Given the description of an element on the screen output the (x, y) to click on. 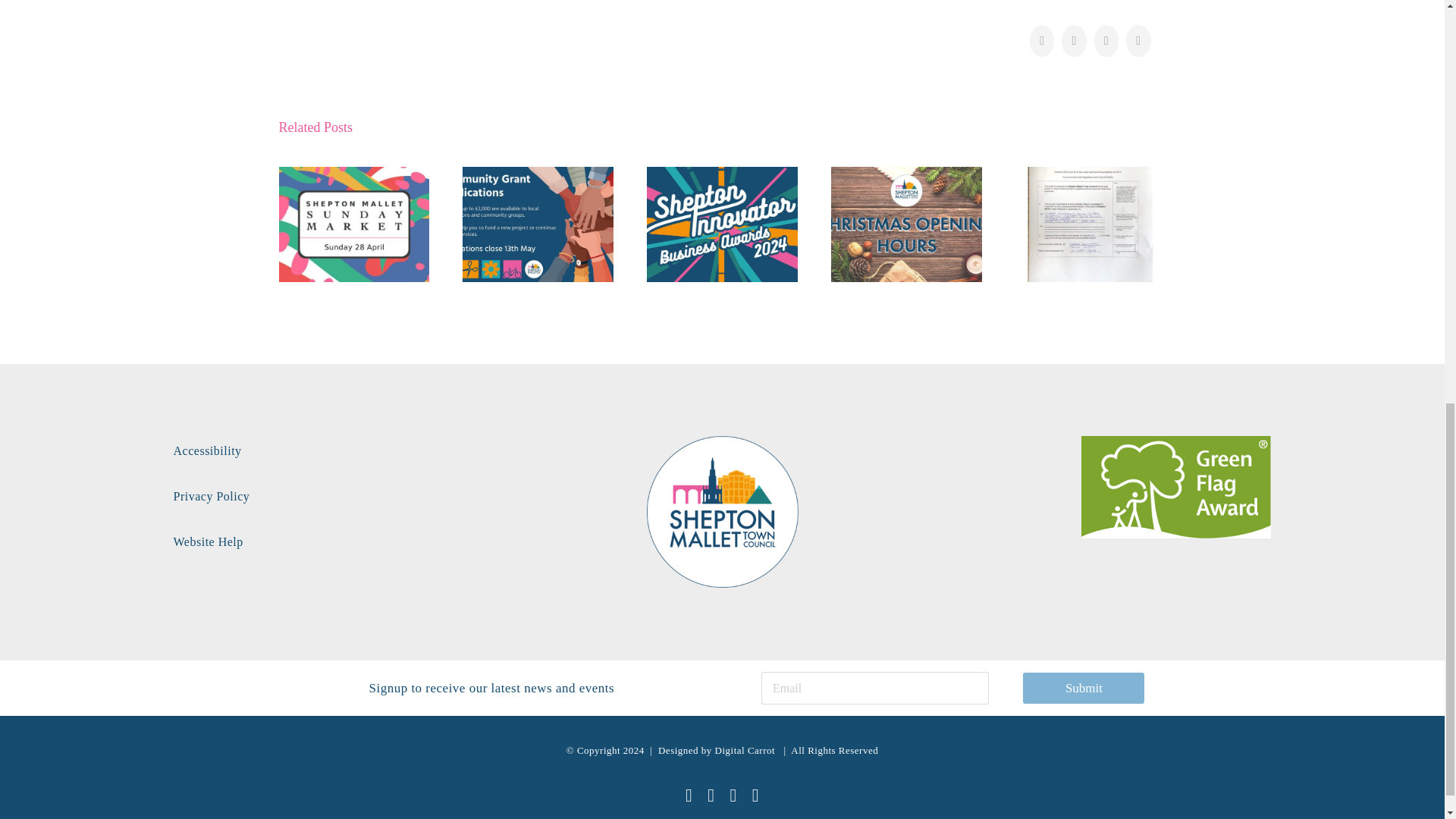
master-colour (721, 511)
download (1176, 486)
